Given the description of an element on the screen output the (x, y) to click on. 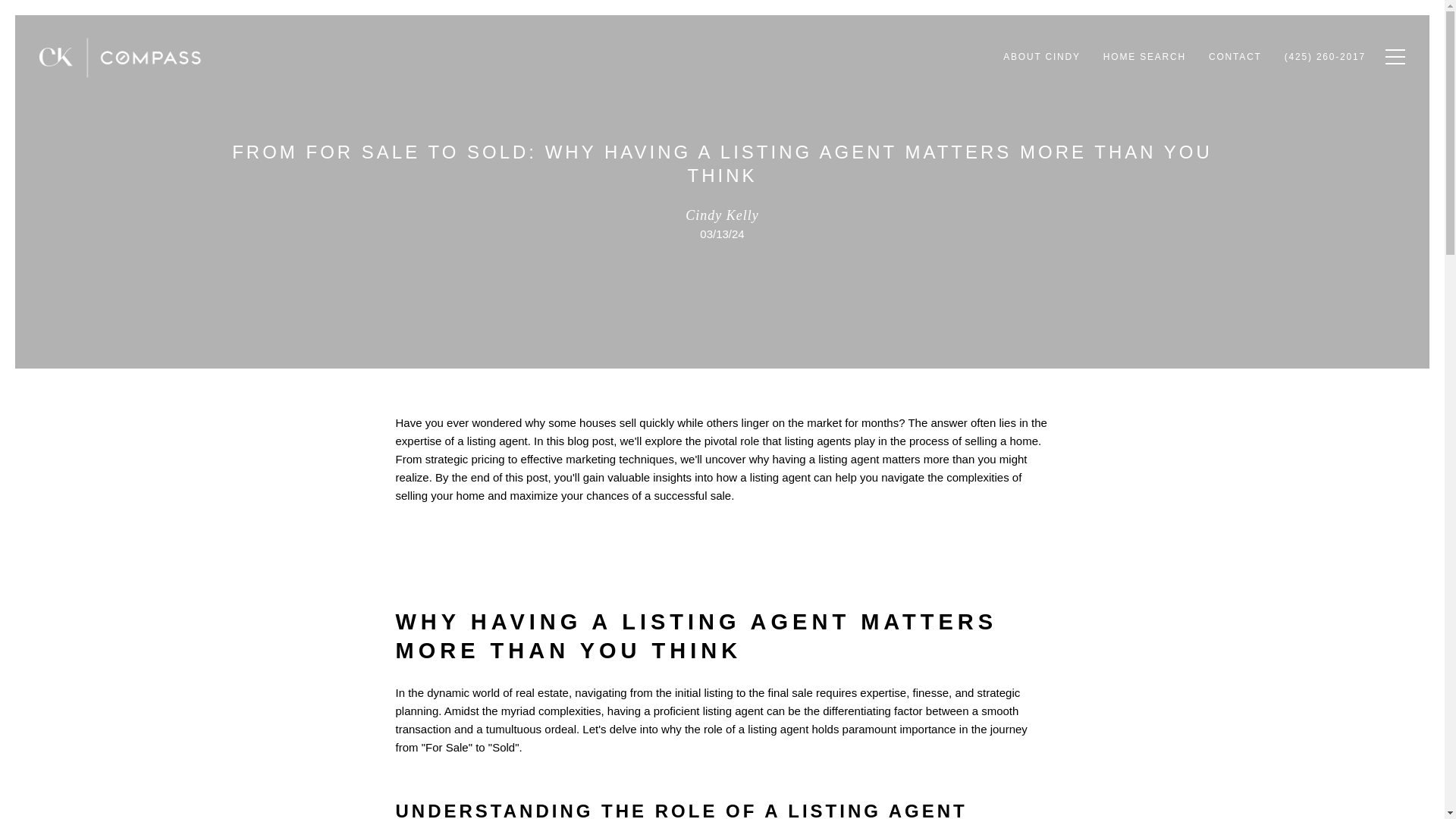
ABOUT CINDY (1041, 56)
Toggle navigation (1391, 56)
CONTACT (1234, 56)
HOME SEARCH (1144, 56)
